Given the description of an element on the screen output the (x, y) to click on. 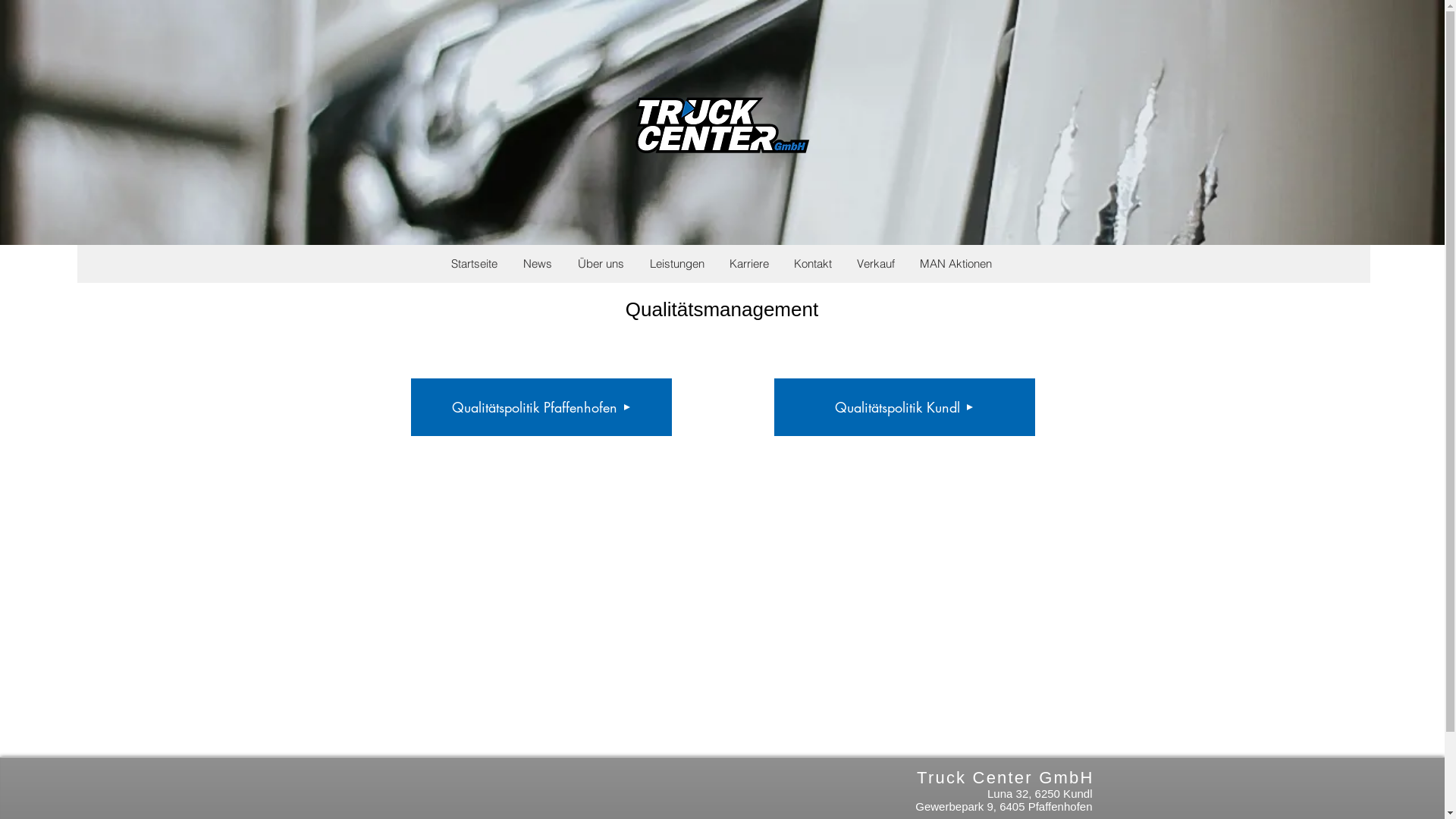
MAN Aktionen Element type: text (955, 263)
Leistungen Element type: text (676, 263)
Karriere Element type: text (747, 263)
Verkauf Element type: text (874, 263)
Startseite Element type: text (473, 263)
News Element type: text (536, 263)
